Given the description of an element on the screen output the (x, y) to click on. 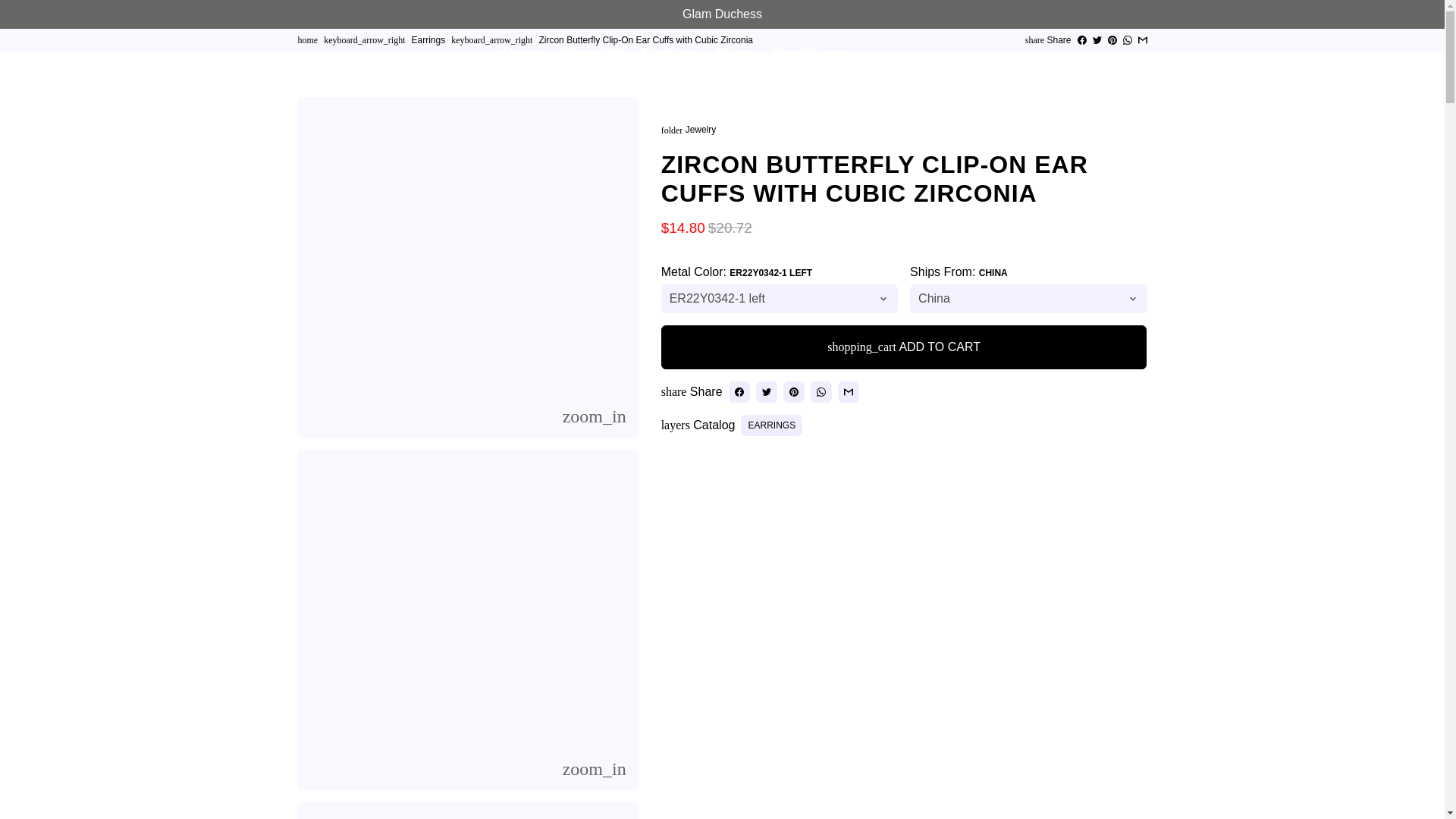
Jewelry Set (558, 80)
Bracelets (592, 51)
Earrings (427, 40)
Zircon Butterfly Clip-On Ear Cuffs with Cubic Zirconia (645, 40)
Sunglasses (655, 80)
Earrings (670, 51)
Shawls, Scarves (770, 80)
Glam duchess (307, 40)
search (924, 66)
